Given the description of an element on the screen output the (x, y) to click on. 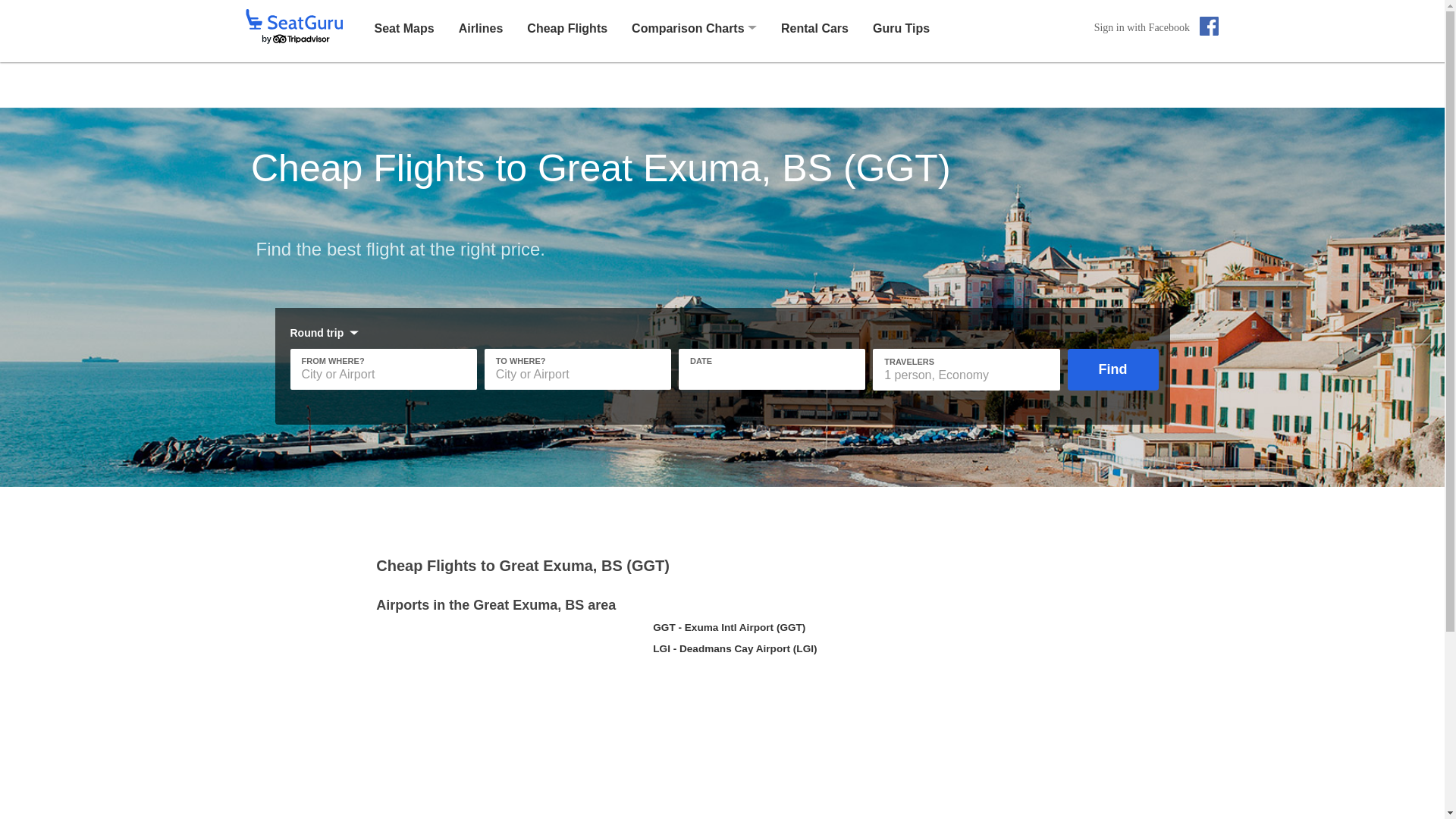
Cheap Flights (567, 27)
Sign in with Facebook (1156, 27)
Airlines (480, 27)
Comparison Charts (687, 28)
Seat Maps (403, 27)
Rental Cars (814, 27)
Guru Tips (901, 27)
